Given the description of an element on the screen output the (x, y) to click on. 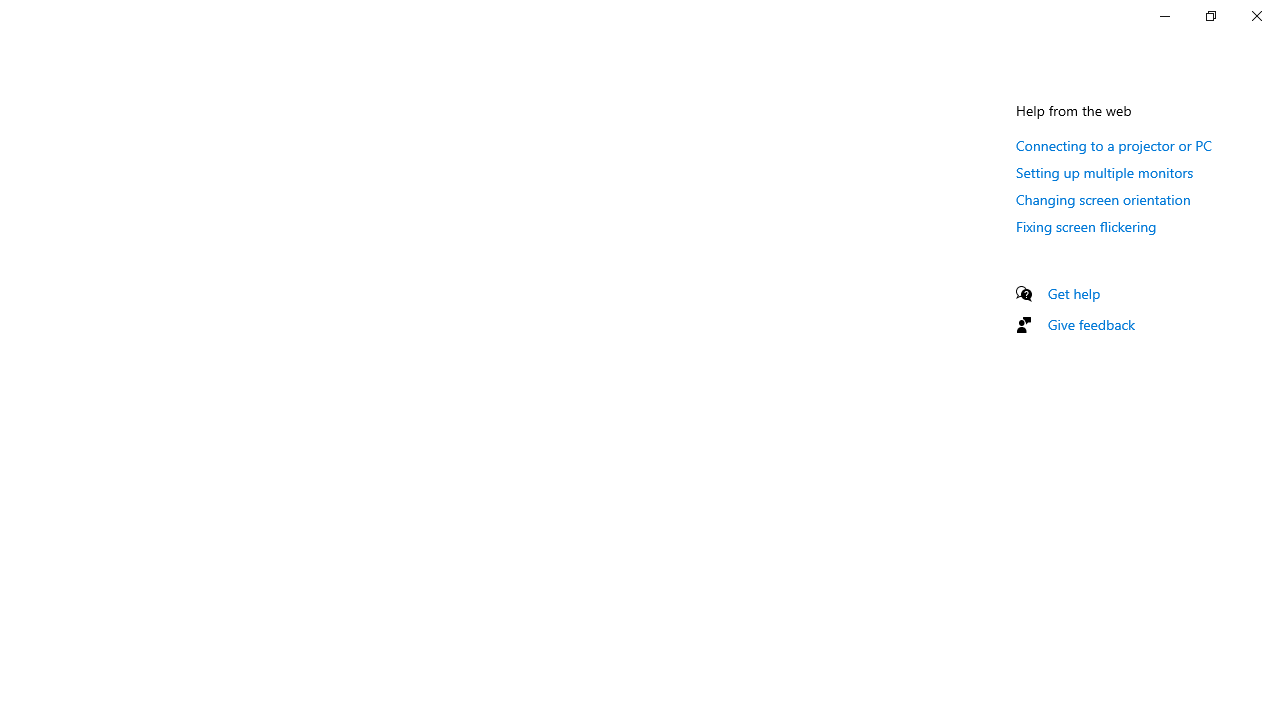
Changing screen orientation (1103, 199)
Minimize Settings (1164, 15)
Setting up multiple monitors (1105, 172)
Give feedback (1091, 324)
Close Settings (1256, 15)
Fixing screen flickering (1086, 226)
Get help (1074, 293)
Connecting to a projector or PC (1114, 145)
Restore Settings (1210, 15)
